Given the description of an element on the screen output the (x, y) to click on. 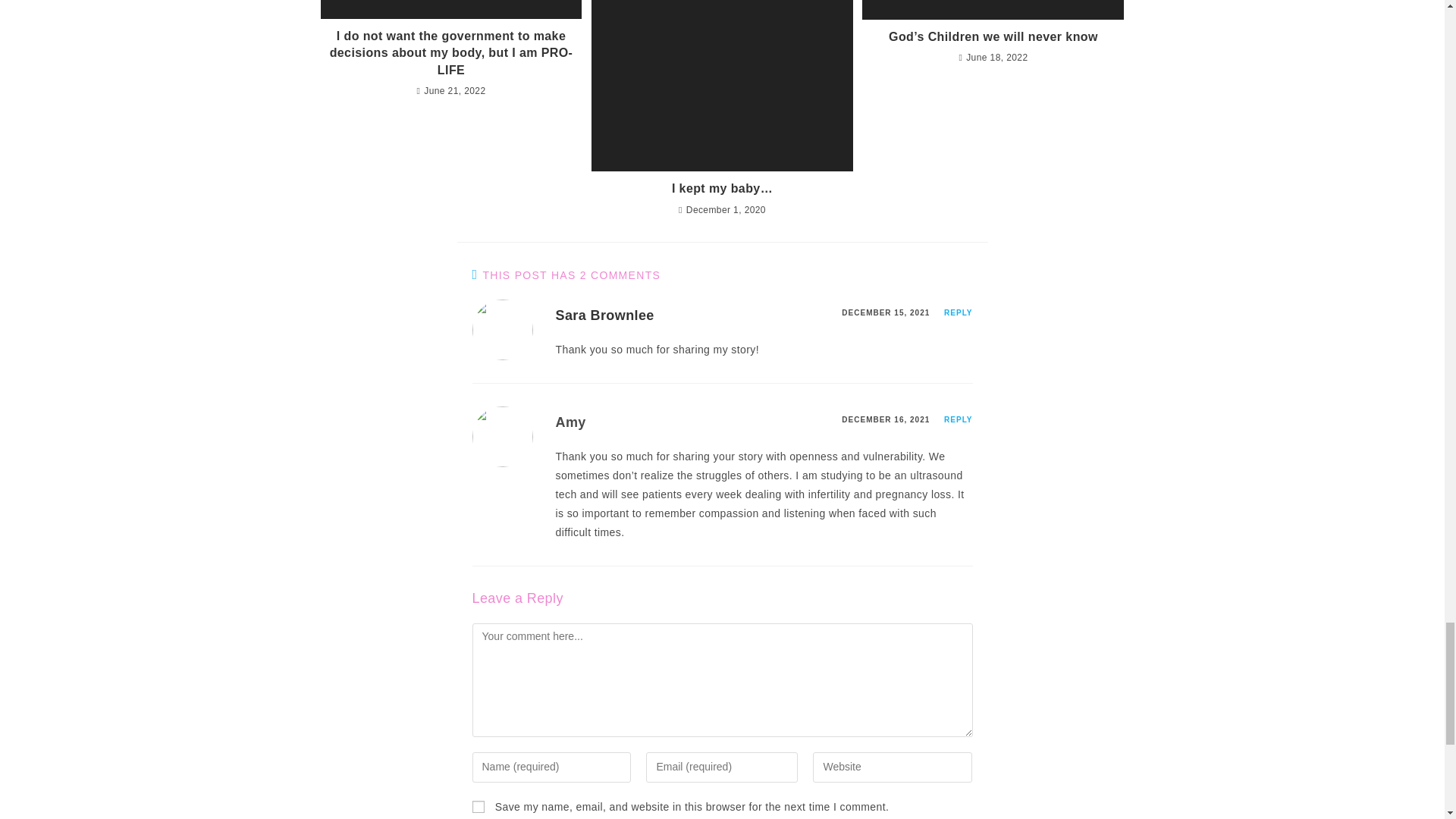
yes (477, 806)
